Given the description of an element on the screen output the (x, y) to click on. 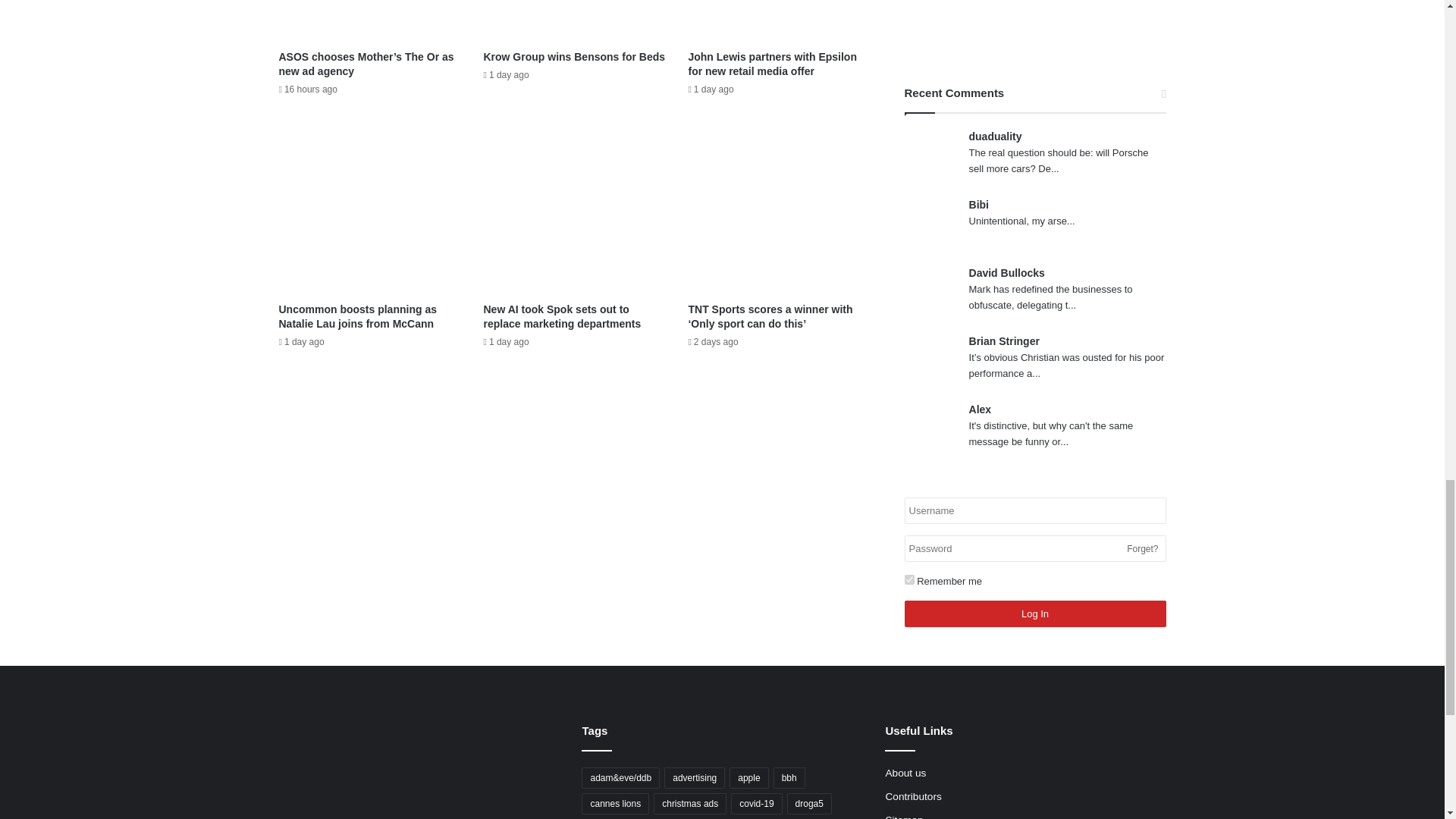
Password (1035, 548)
forever (909, 579)
Username (1035, 510)
